Given the description of an element on the screen output the (x, y) to click on. 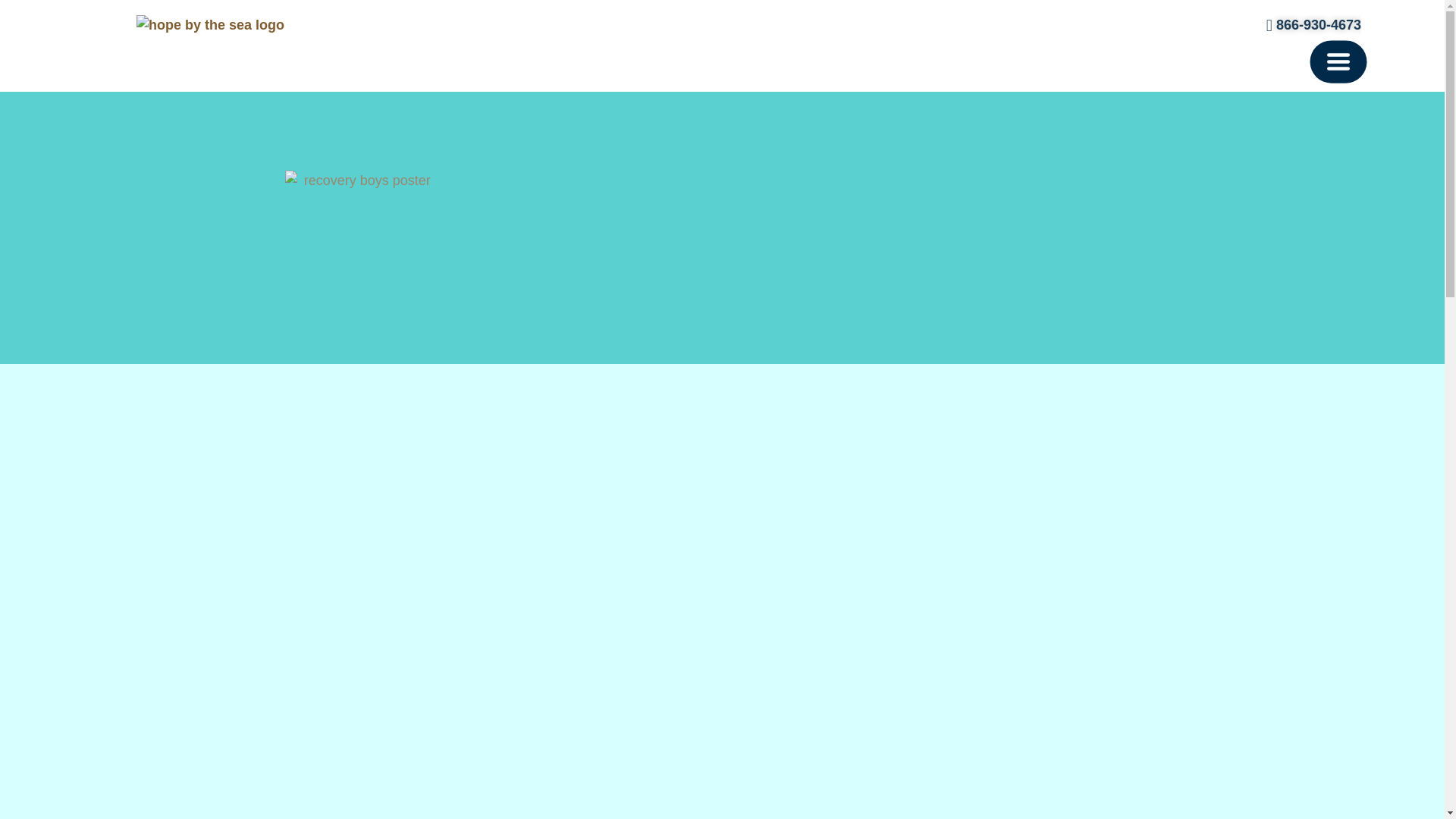
866-930-4673 (1305, 25)
